Given the description of an element on the screen output the (x, y) to click on. 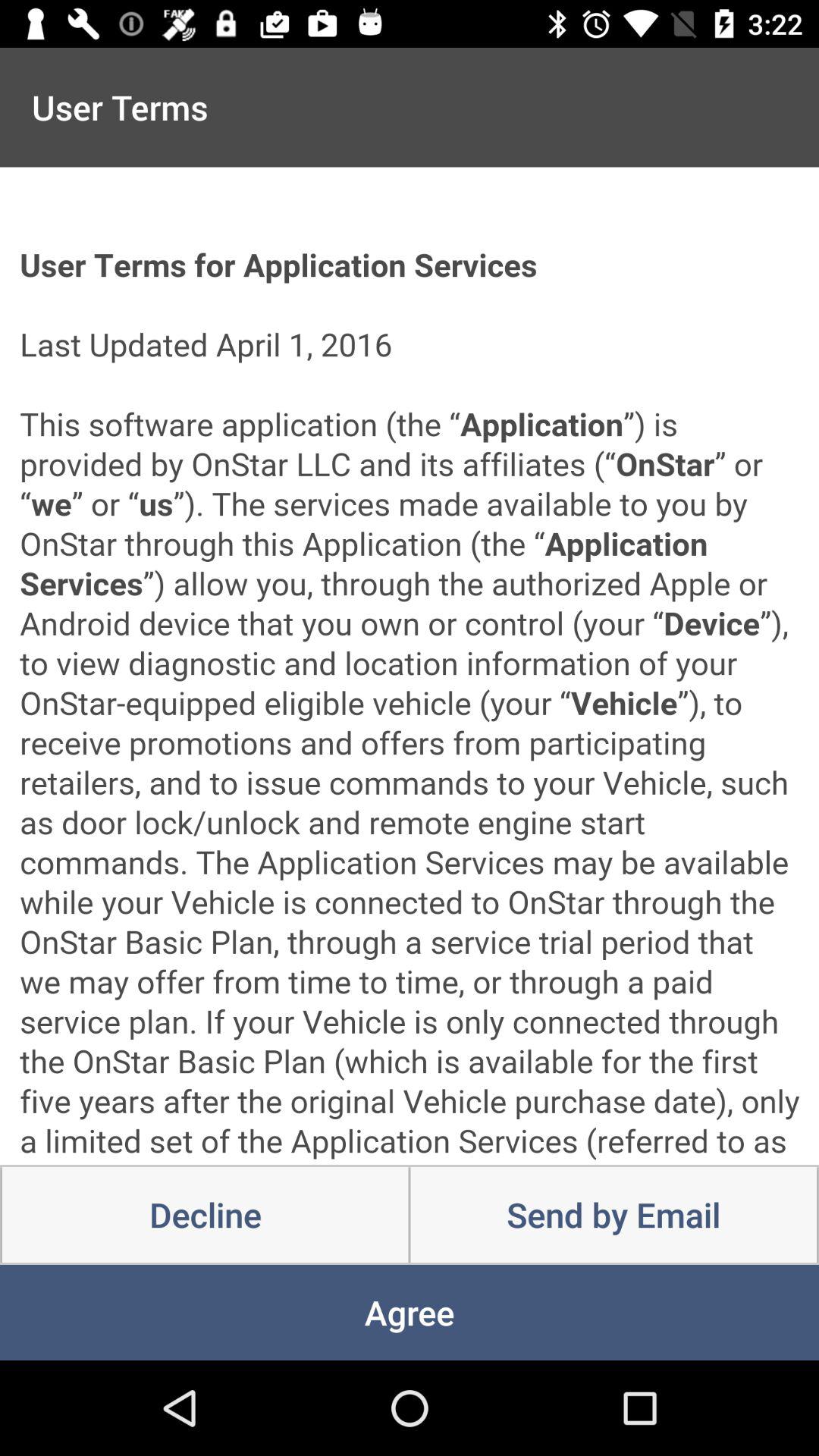
press the agree (409, 1312)
